Given the description of an element on the screen output the (x, y) to click on. 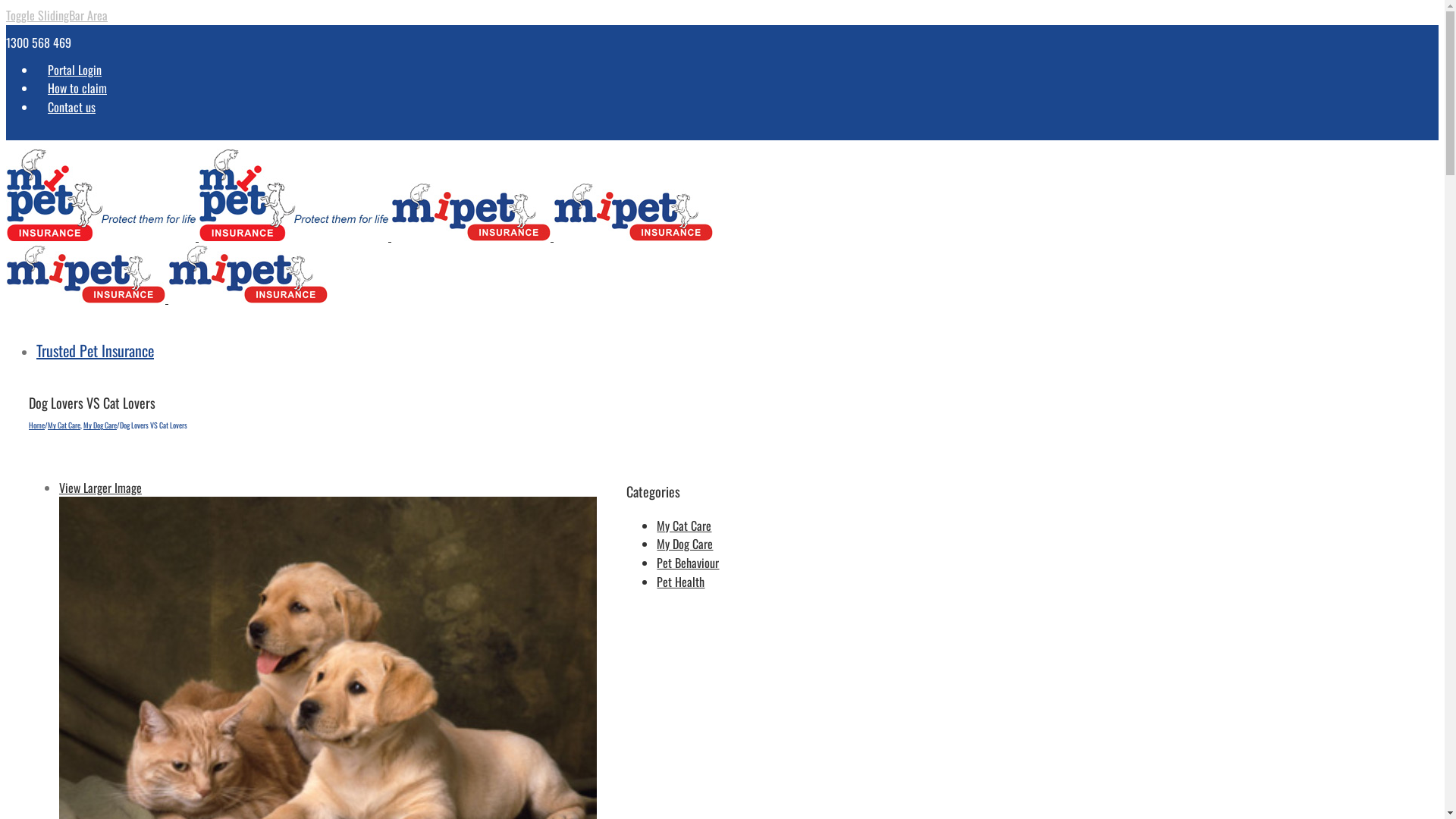
My Dog Care Element type: text (684, 543)
Contact us Element type: text (71, 106)
My Cat Care Element type: text (683, 525)
Toggle SlidingBar Area Element type: text (56, 15)
Portal Login Element type: text (74, 69)
Pet Behaviour Element type: text (687, 562)
My Cat Care Element type: text (63, 424)
Trusted Pet Insurance Element type: text (94, 348)
Pet Health Element type: text (680, 580)
How to claim Element type: text (77, 87)
Home Element type: text (36, 424)
My Dog Care Element type: text (99, 424)
